Given the description of an element on the screen output the (x, y) to click on. 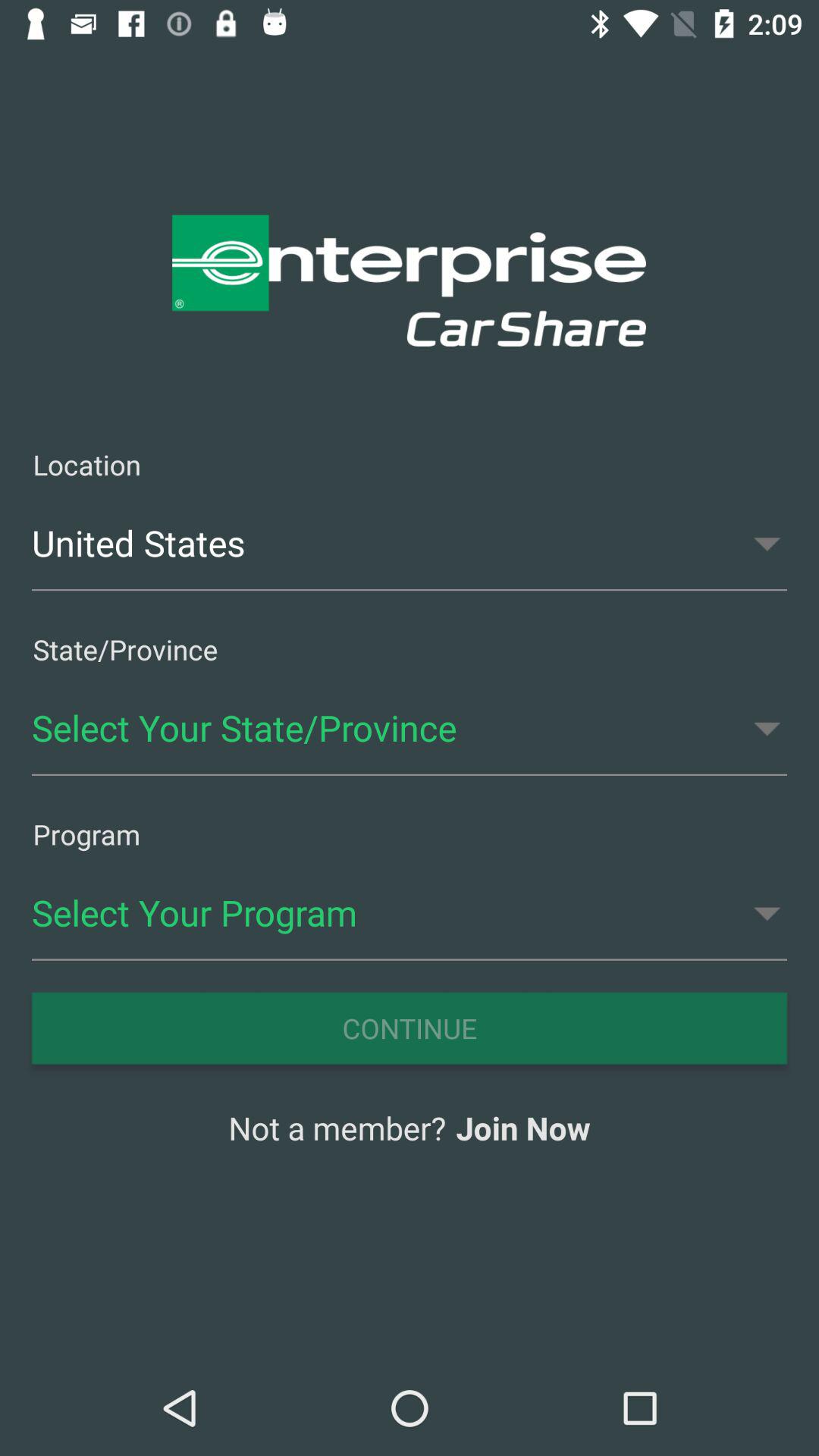
turn off the item below select your program icon (409, 1028)
